Given the description of an element on the screen output the (x, y) to click on. 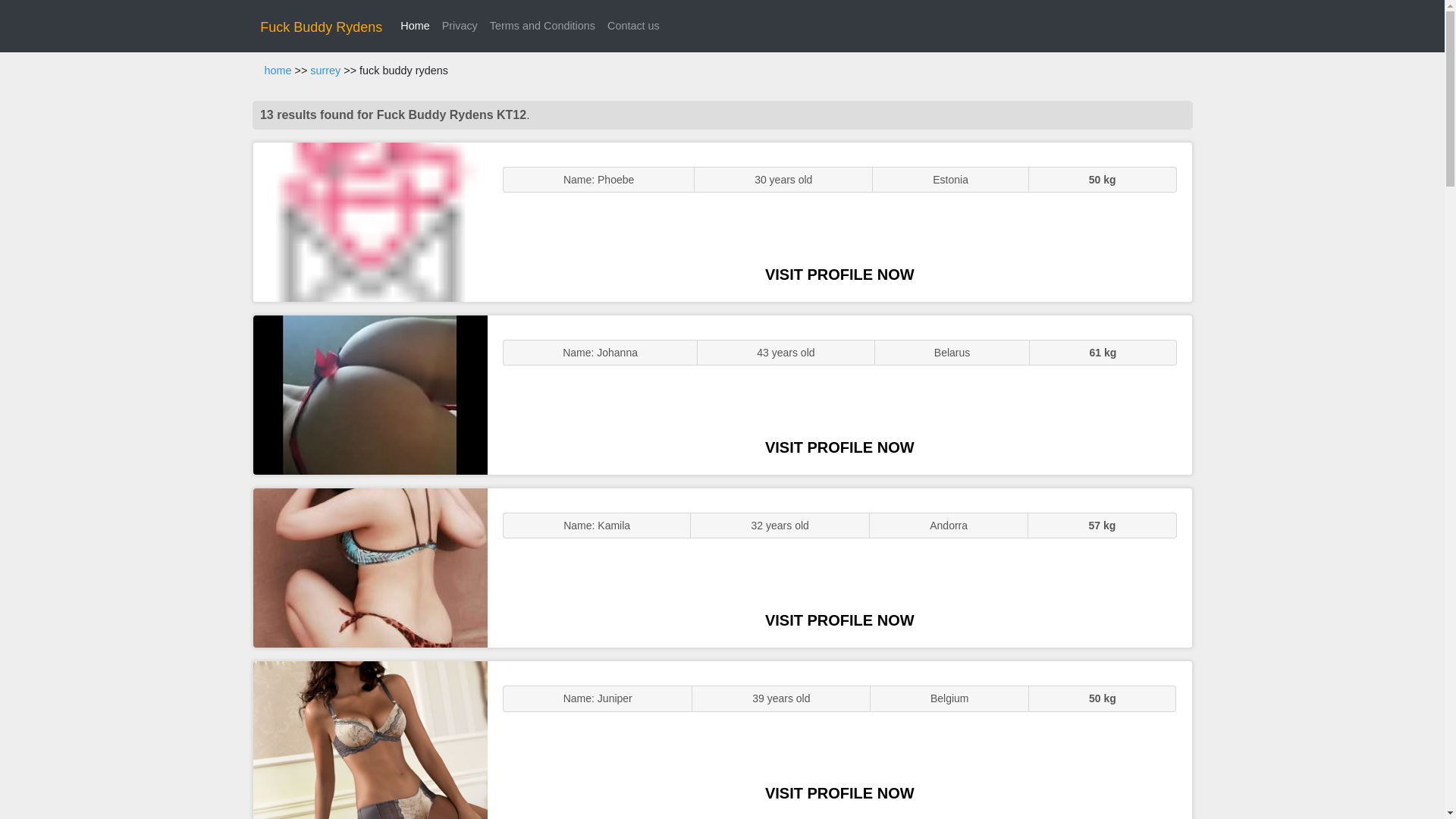
VISIT PROFILE NOW (839, 619)
surrey (325, 70)
Fuck Buddy Rydens (320, 27)
Sexy (370, 567)
Contact us (633, 25)
Privacy (459, 25)
Sluts (370, 739)
VISIT PROFILE NOW (839, 446)
Terms and Conditions (542, 25)
GFE (370, 395)
VISIT PROFILE NOW (839, 274)
 ENGLISH STUNNER (370, 222)
home (277, 70)
VISIT PROFILE NOW (839, 792)
